Given the description of an element on the screen output the (x, y) to click on. 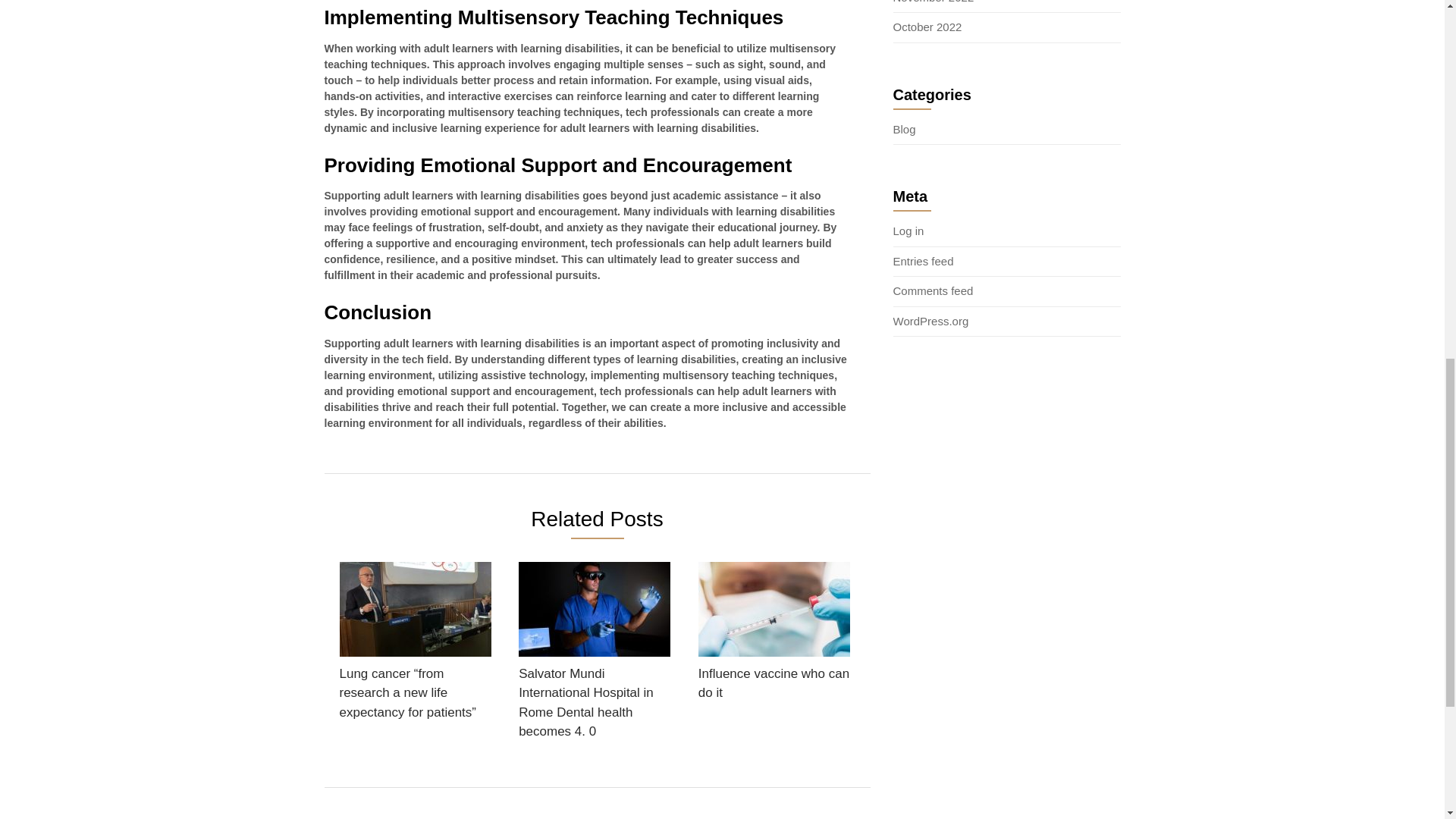
November 2022 (933, 2)
Influence vaccine who can do it (774, 635)
Blog (904, 128)
Comments feed (933, 290)
Log in (908, 230)
Entries feed (923, 260)
Influence vaccine who can do it (774, 635)
October 2022 (927, 26)
WordPress.org (931, 320)
